Given the description of an element on the screen output the (x, y) to click on. 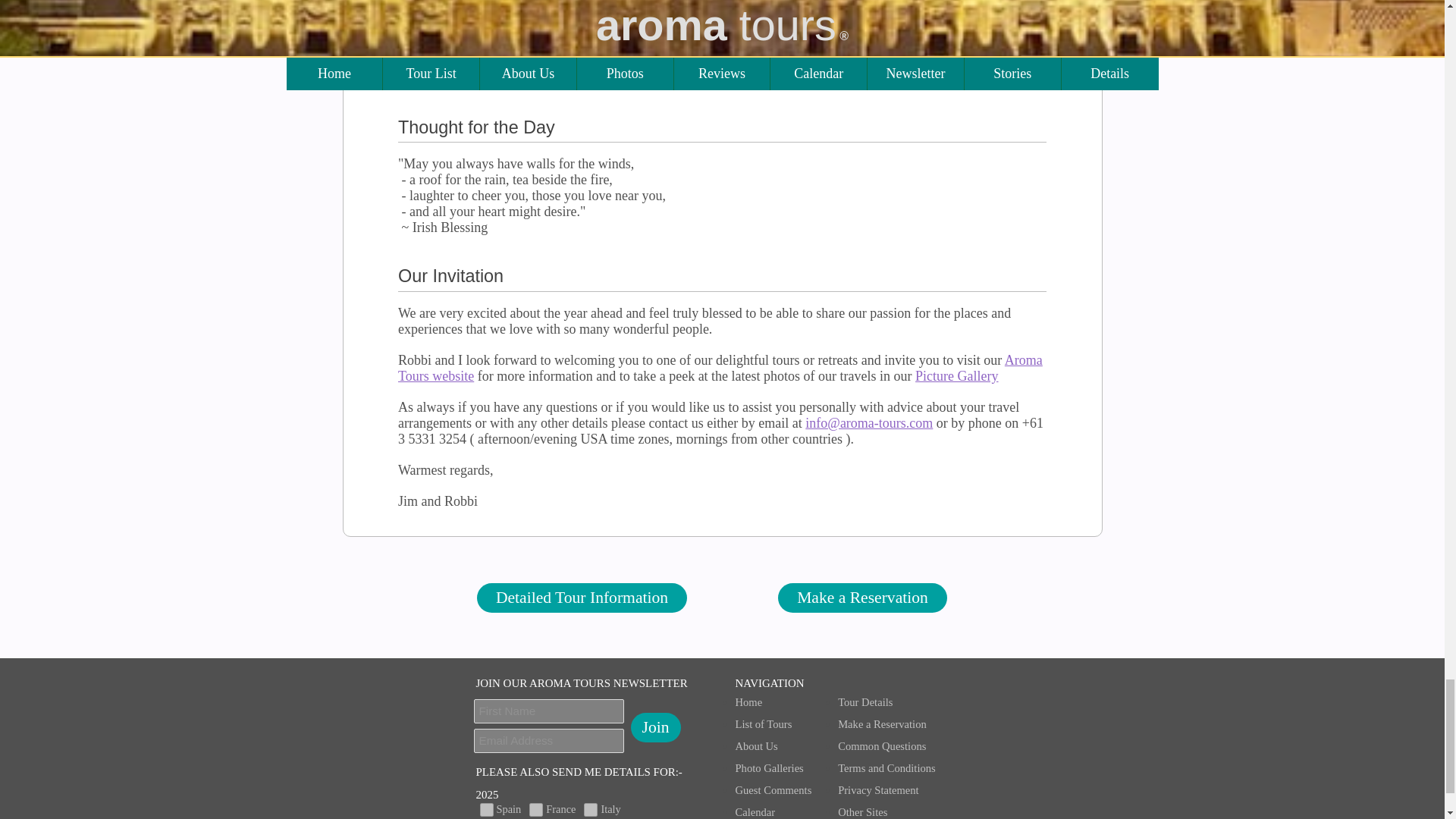
First Name (548, 711)
italy25 (589, 809)
spain25 (486, 809)
france25 (536, 809)
Email Address (548, 740)
